Given the description of an element on the screen output the (x, y) to click on. 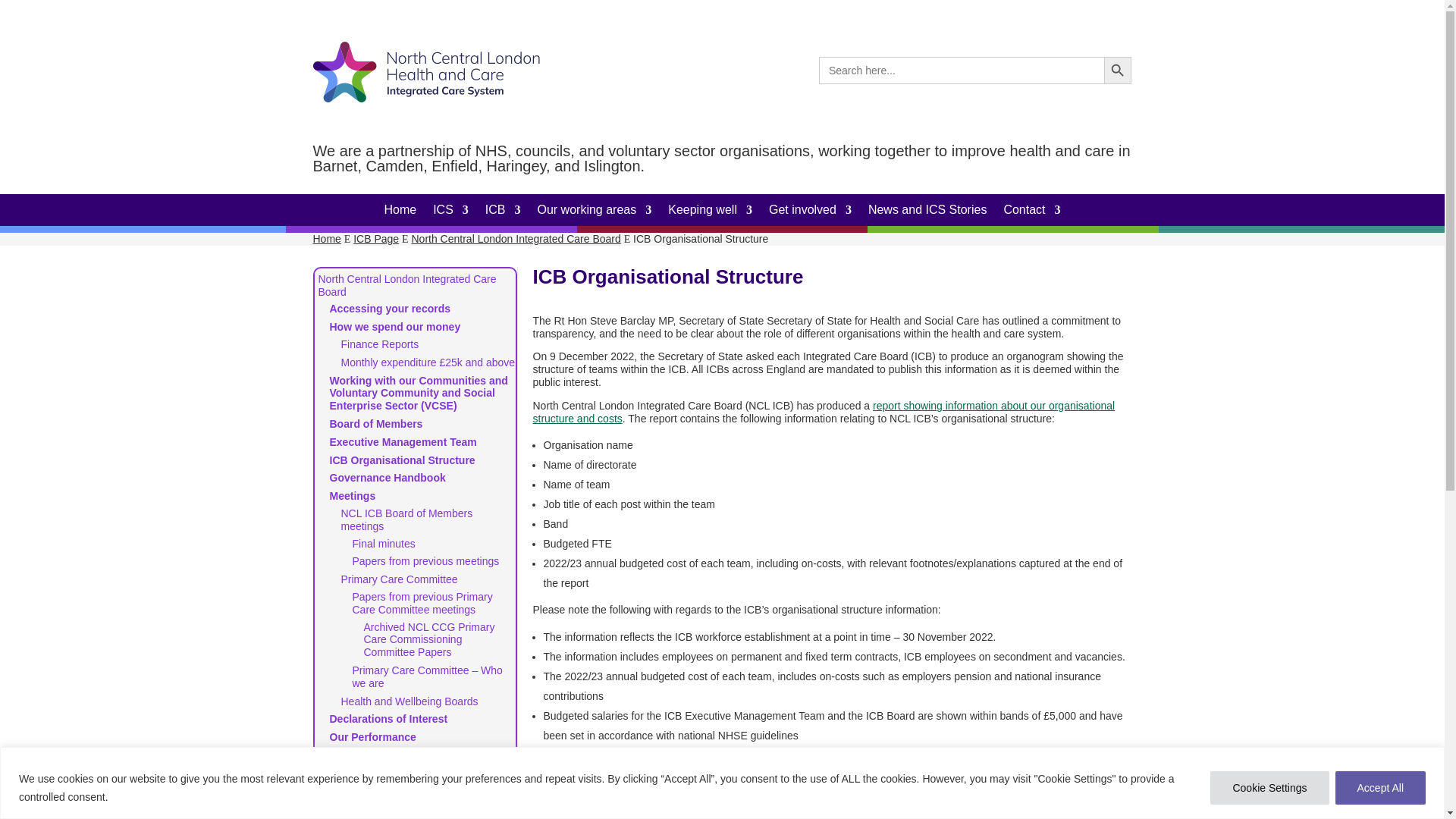
ICS (450, 212)
Home (400, 212)
Cookie Settings (1268, 786)
Accept All (1380, 786)
ICB (502, 212)
Search Button (1117, 70)
